Given the description of an element on the screen output the (x, y) to click on. 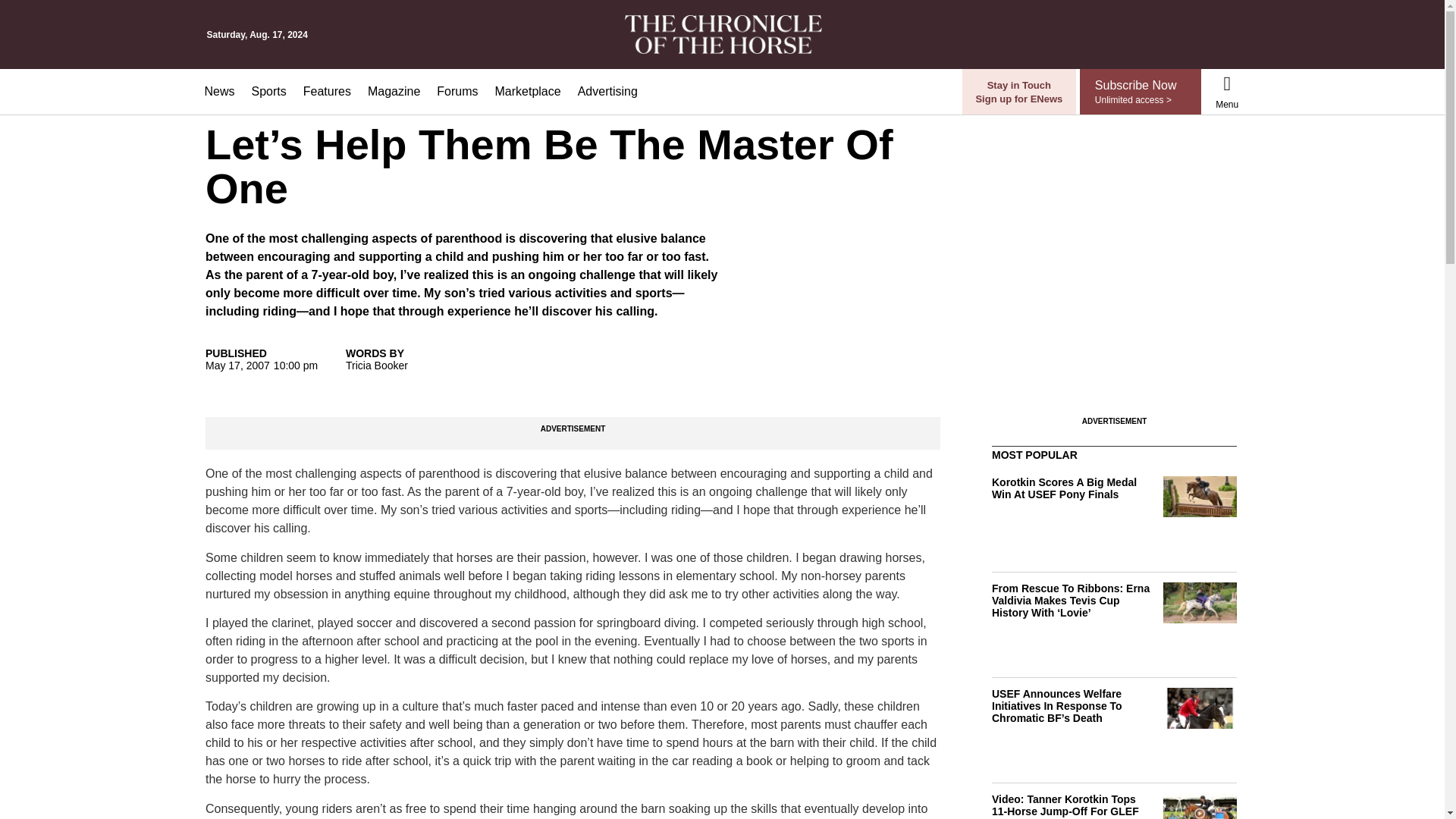
Sports (269, 91)
Magazine (393, 91)
Features (327, 91)
News (219, 91)
